Given the description of an element on the screen output the (x, y) to click on. 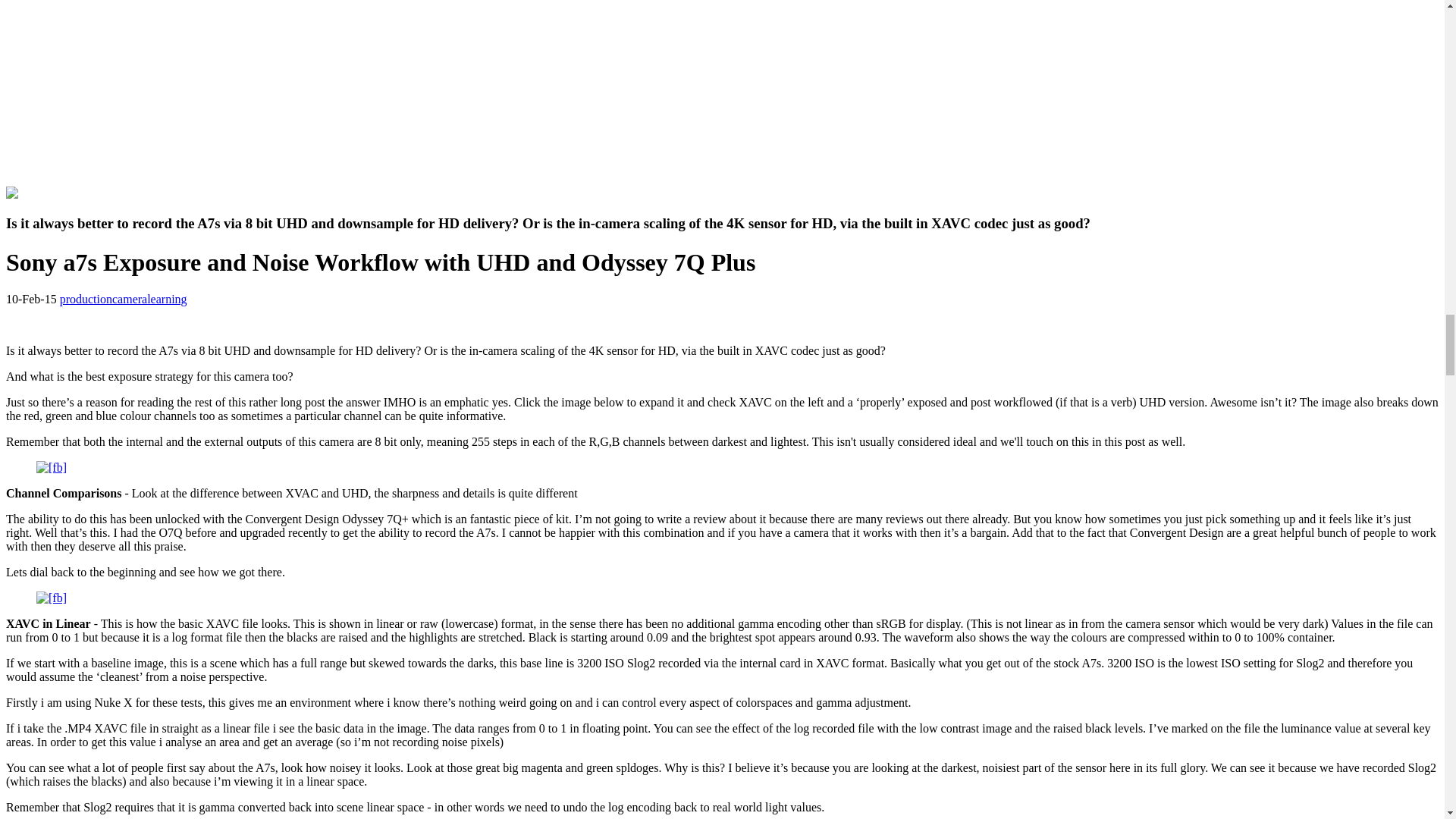
production (85, 298)
camera (129, 298)
learning (166, 298)
